Given the description of an element on the screen output the (x, y) to click on. 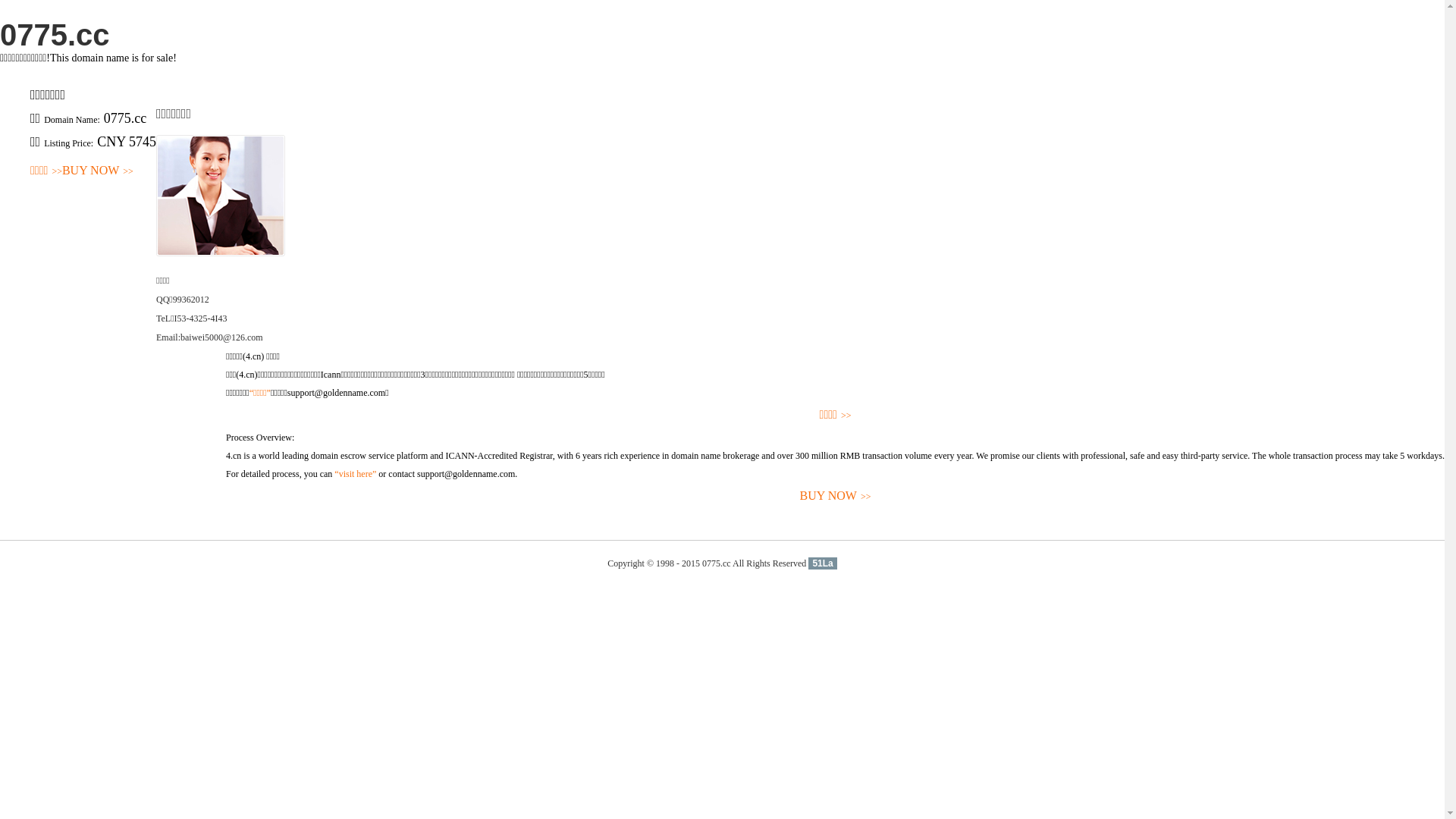
BUY NOW>> Element type: text (97, 170)
BUY NOW>> Element type: text (834, 496)
51La Element type: text (822, 563)
